Given the description of an element on the screen output the (x, y) to click on. 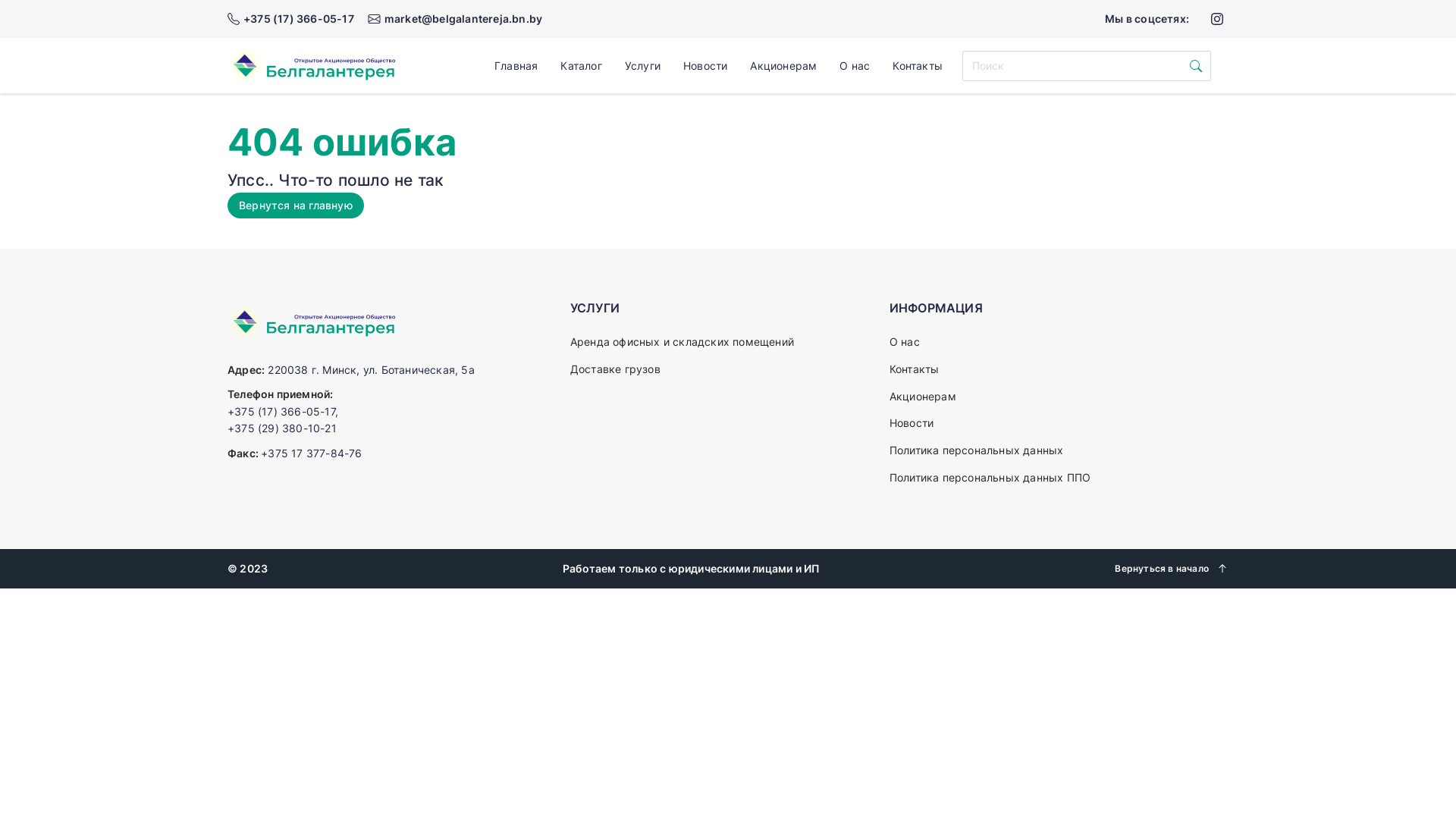
+375 (17) 366-05-17 Element type: text (290, 18)
+375 (29) 380-10-21 Element type: text (281, 427)
+375 (17) 366-05-17 Element type: text (281, 410)
market@belgalantereja.bn.by Element type: text (454, 18)
+375 17 377-84-76 Element type: text (310, 452)
